Given the description of an element on the screen output the (x, y) to click on. 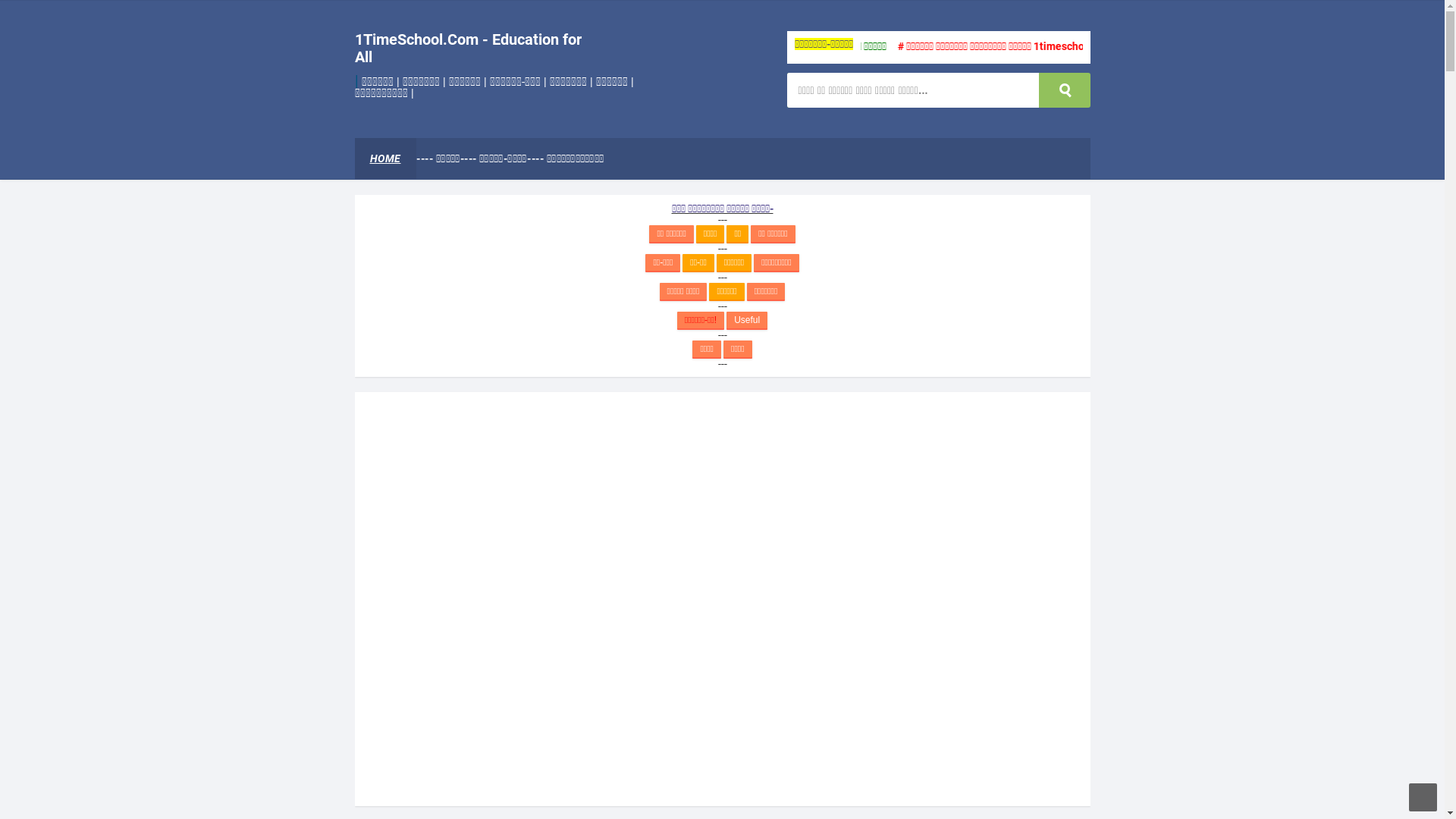
Advertisement Element type: hover (721, 597)
Useful Element type: text (746, 319)
Useful Element type: text (746, 320)
HOME Element type: text (385, 158)
1TimeSchool.Com - Education for All Element type: text (467, 48)
